Given the description of an element on the screen output the (x, y) to click on. 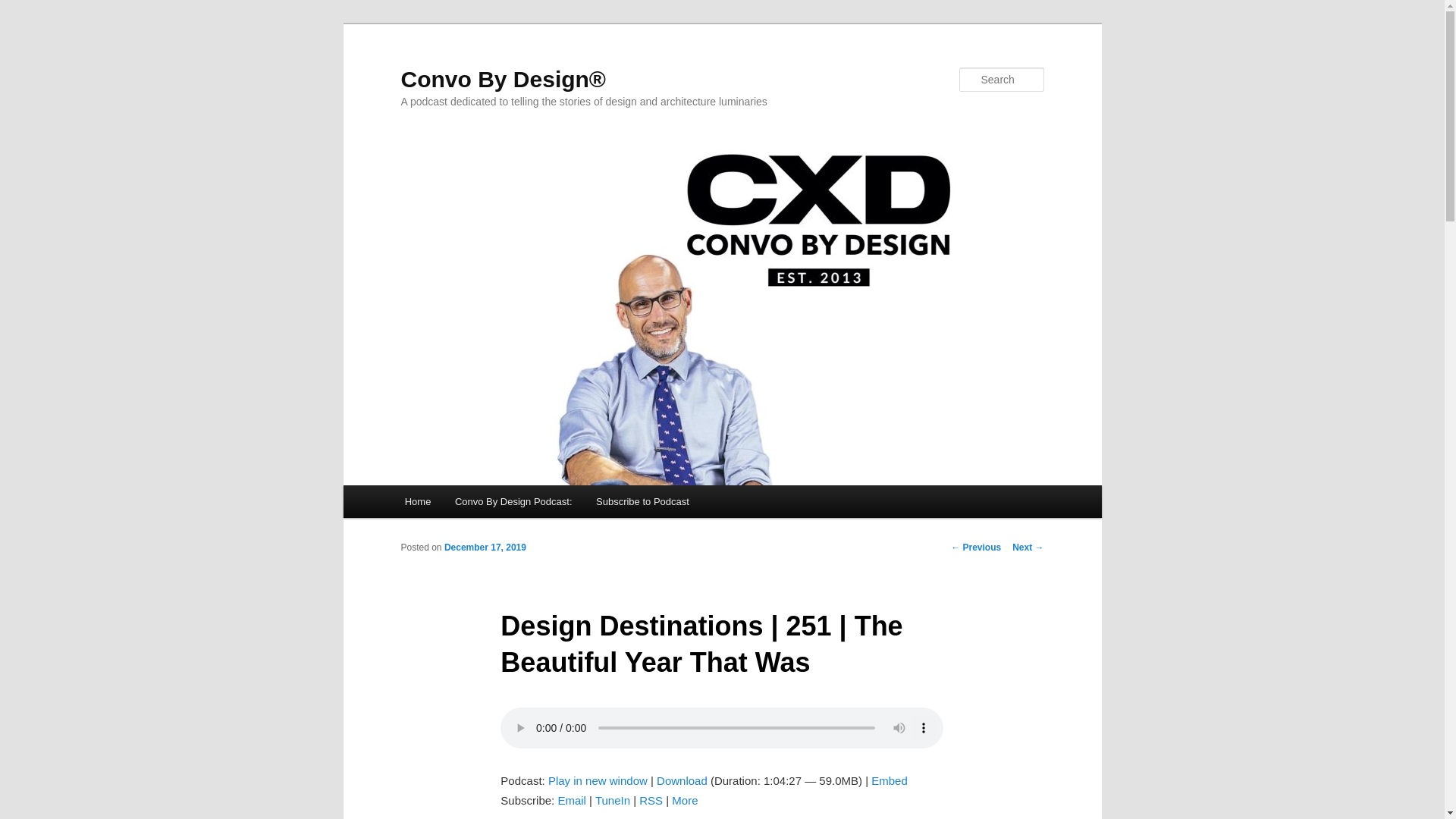
Download (681, 780)
Email (571, 799)
TuneIn (612, 799)
Subscribe via RSS (650, 799)
More (684, 799)
Embed (888, 780)
Subscribe by Email (571, 799)
Play in new window (597, 780)
Subscribe to Podcast (641, 501)
